Given the description of an element on the screen output the (x, y) to click on. 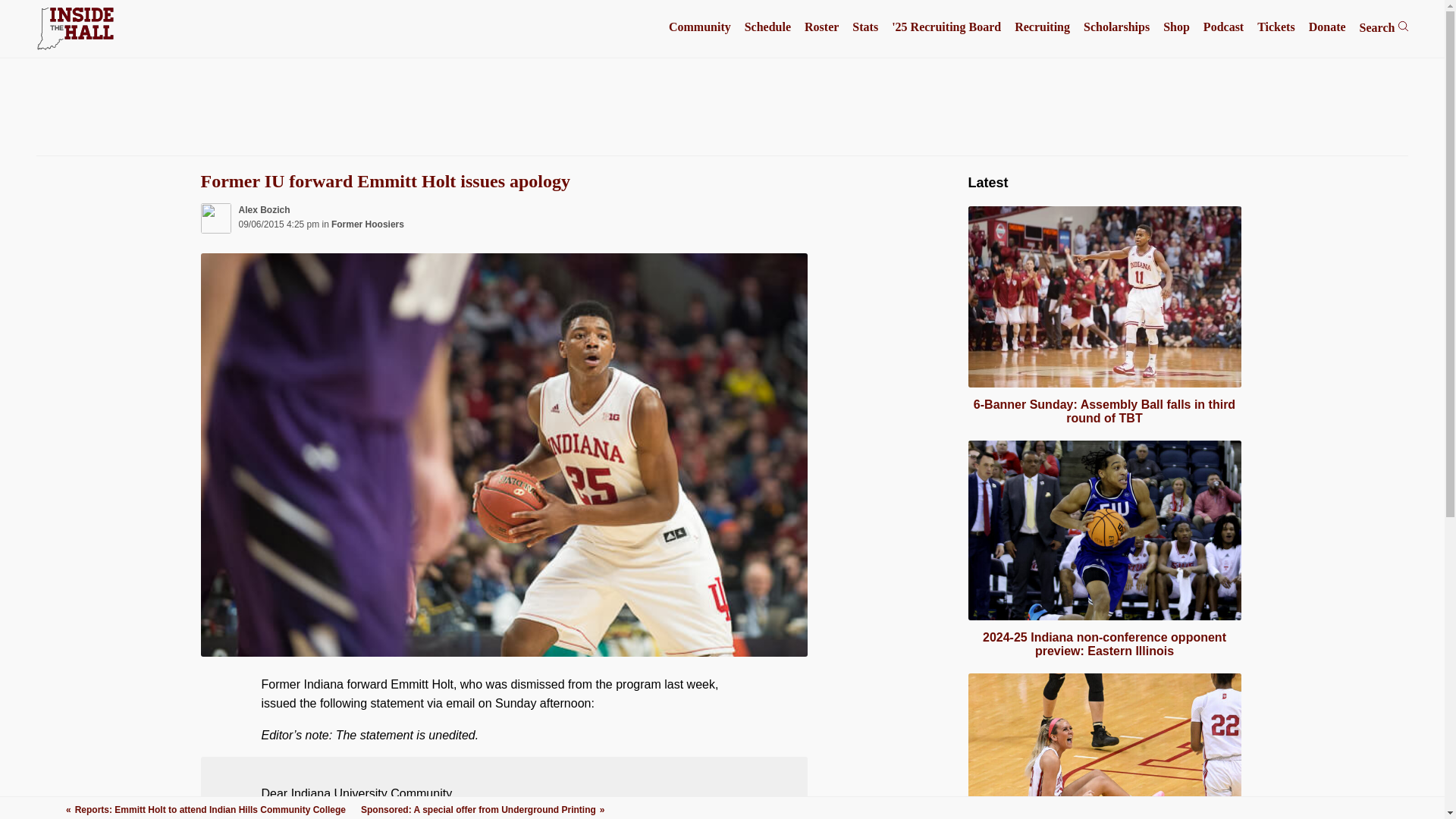
Schedule (767, 26)
search (1402, 25)
Roster (821, 26)
Podcast (1223, 26)
Alex Bozich (263, 209)
Sponsored: A special offer from Underground Printing (482, 809)
Shop (1176, 26)
Former Hoosiers (367, 224)
Donate (1326, 26)
Posts by Alex Bozich (263, 209)
Tickets (1275, 26)
6-Banner Sunday: Assembly Ball falls in third round of TBT (1104, 411)
Scholarships (1116, 26)
